Given the description of an element on the screen output the (x, y) to click on. 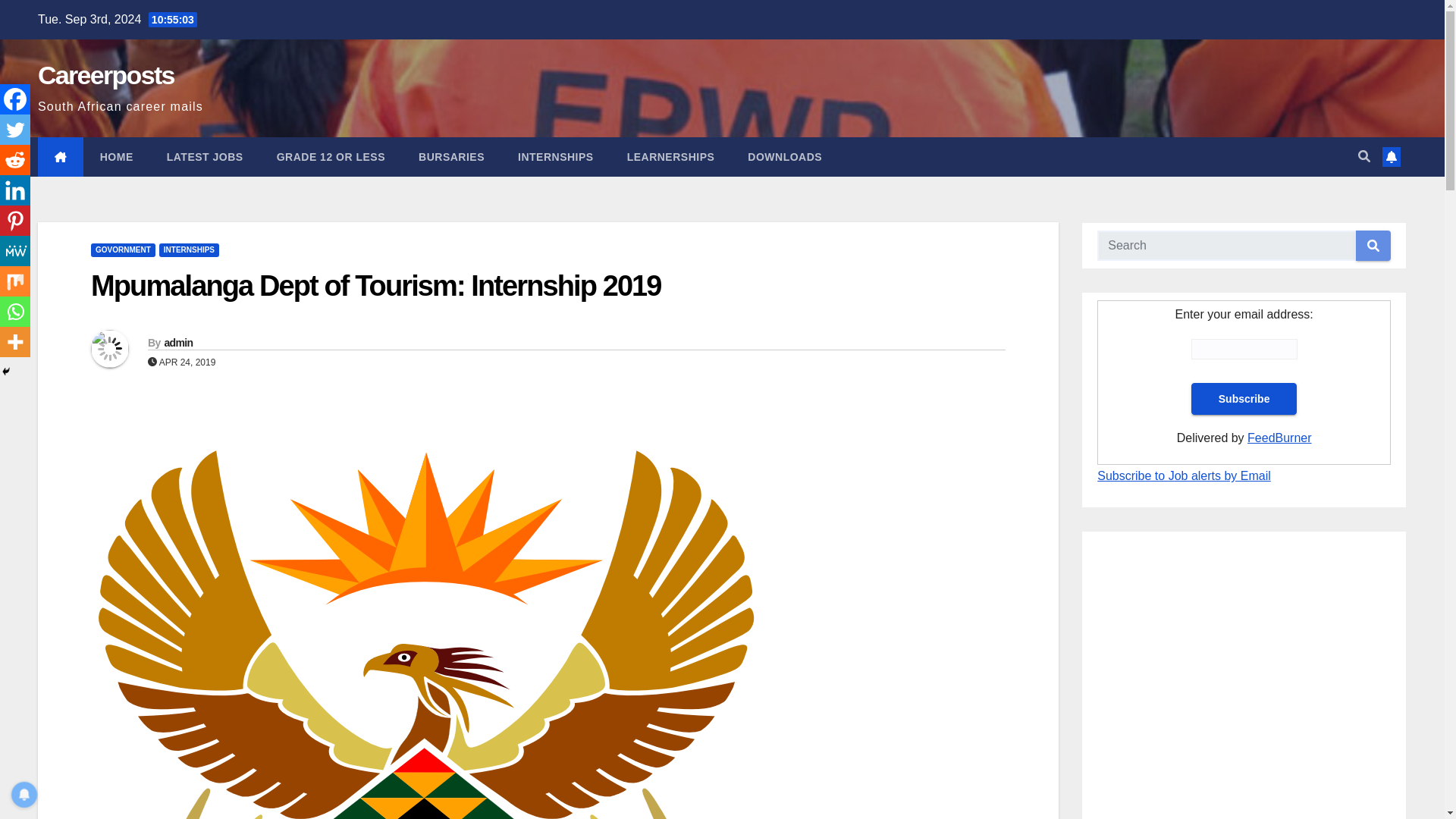
DOWNLOADS (784, 156)
admin (177, 342)
Home (115, 156)
Learnerships (671, 156)
Internships (555, 156)
Subscribe (1244, 398)
GOVORNMENT (122, 250)
Permalink to: Mpumalanga Dept of Tourism: Internship 2019 (375, 286)
INTERNSHIPS (188, 250)
Careerposts (105, 74)
